Given the description of an element on the screen output the (x, y) to click on. 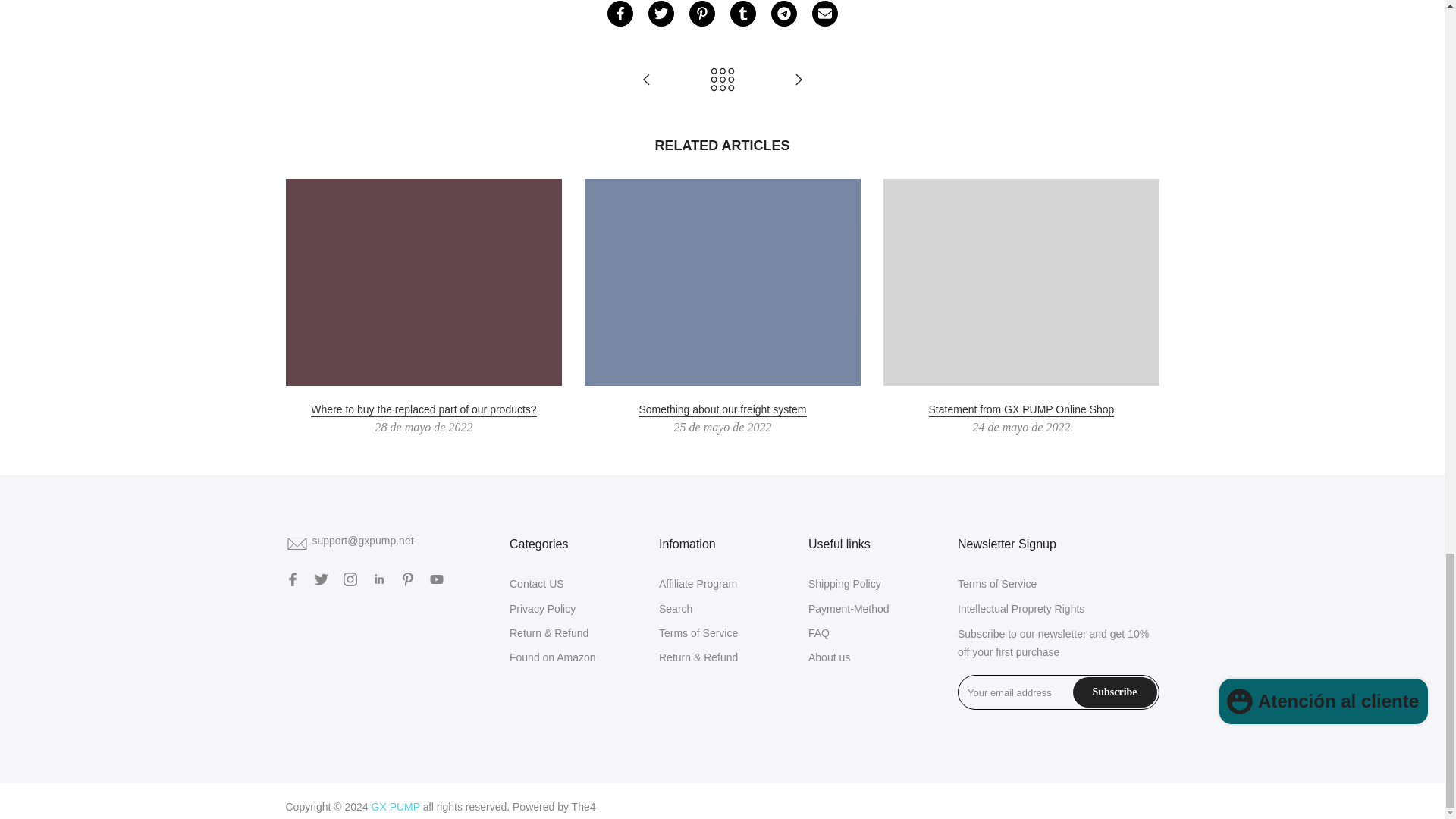
Share on Email (823, 13)
Share on Facebook (619, 13)
Something about our freight system (646, 80)
Where to buy the replaced part of our products? (797, 80)
Share on Pinterest (701, 13)
Share on Tumblr (742, 13)
Share on Telegram (783, 13)
Back to Events and information (722, 80)
Share on Twitter (659, 13)
